Given the description of an element on the screen output the (x, y) to click on. 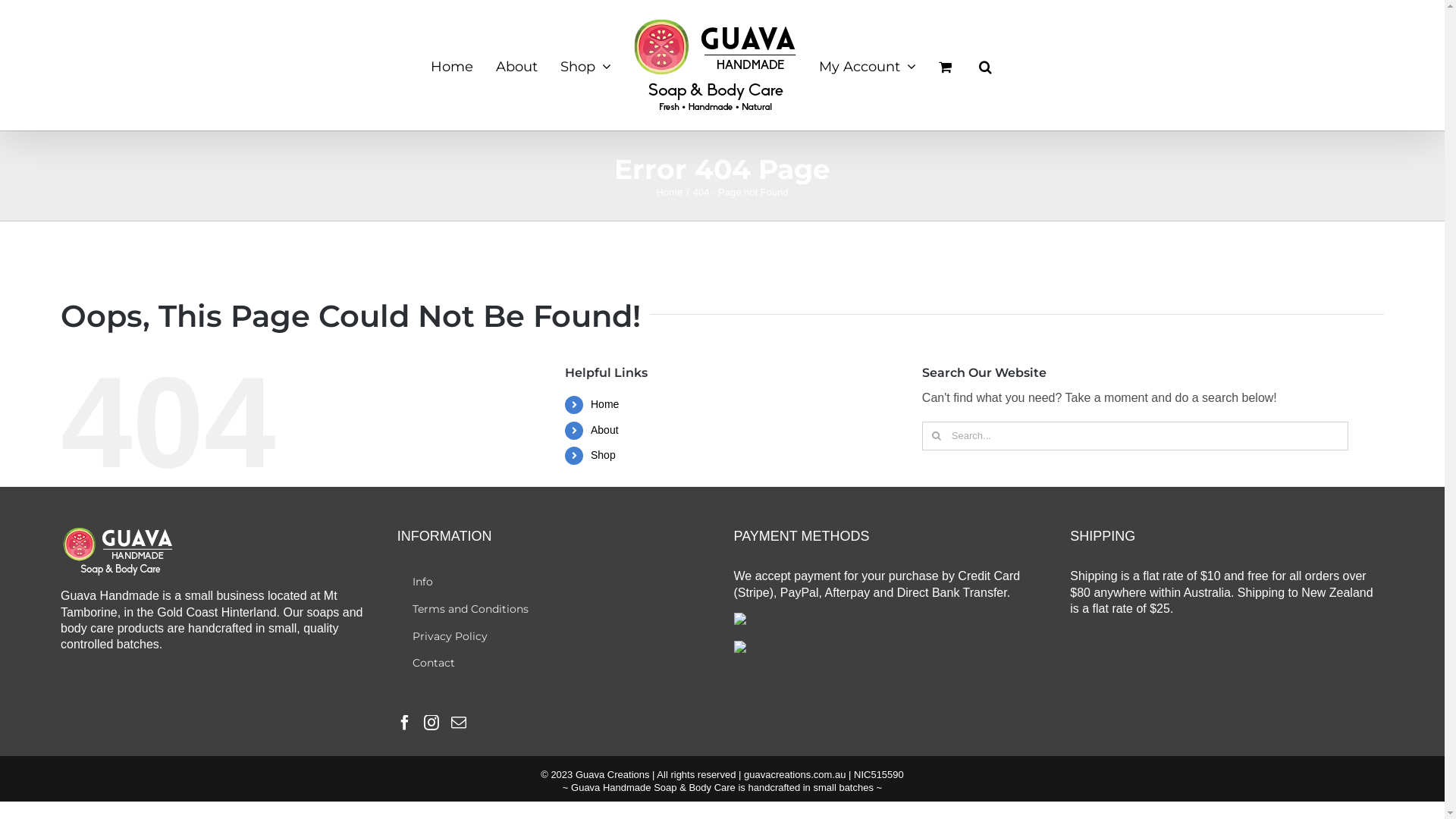
Terms and Conditions Element type: text (553, 609)
Facebook Element type: hover (404, 722)
Shop Element type: text (584, 65)
Home Element type: text (668, 191)
Info Element type: text (553, 582)
About Element type: text (516, 65)
My Account Element type: text (867, 65)
Search Element type: hover (984, 65)
Instagram Element type: hover (431, 722)
Privacy Policy Element type: text (553, 636)
Log In Element type: text (911, 222)
Home Element type: text (451, 65)
Home Element type: text (604, 404)
+ Element type: text (1425, 14)
Shop Element type: text (602, 454)
Contact Element type: text (553, 663)
About Element type: text (604, 429)
Mail Element type: hover (458, 722)
